Given the description of an element on the screen output the (x, y) to click on. 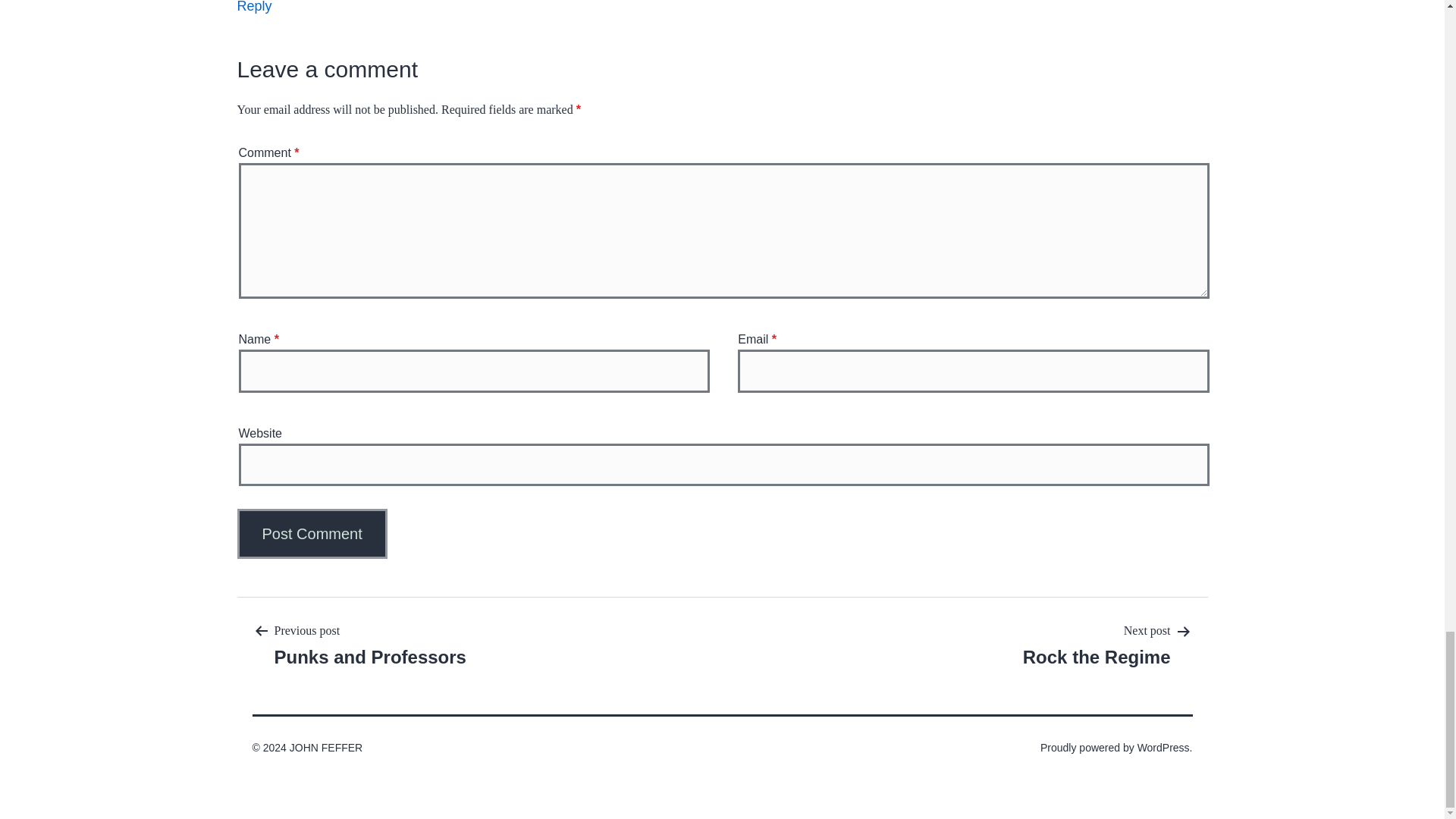
Post Comment (311, 533)
